Given the description of an element on the screen output the (x, y) to click on. 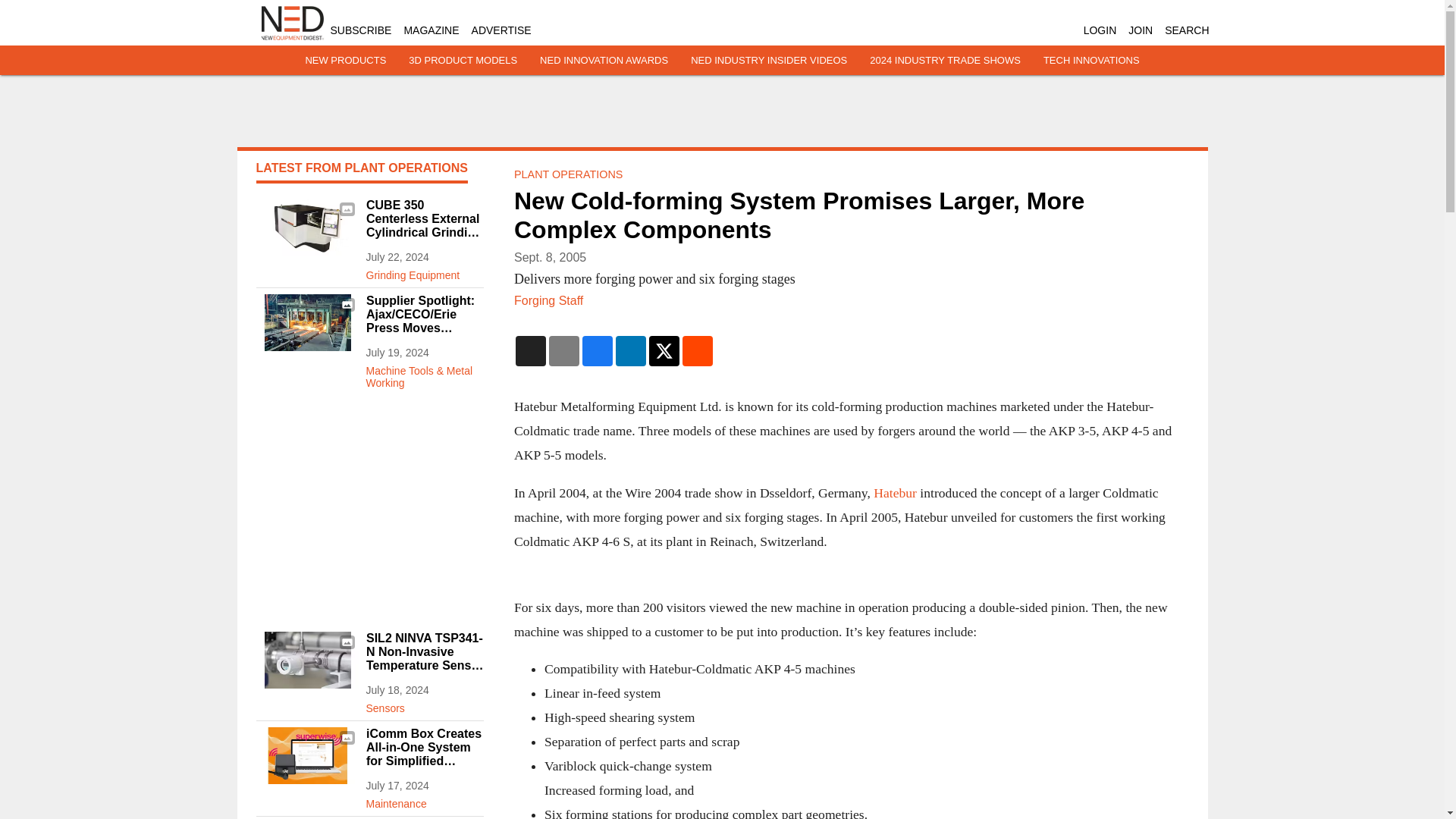
NED INNOVATION AWARDS (604, 60)
3D PRODUCT MODELS (462, 60)
LOGIN (1099, 30)
SUBSCRIBE (360, 30)
igus iComm Box (307, 755)
TECH INNOVATIONS (1091, 60)
JOIN (1140, 30)
2024 INDUSTRY TRADE SHOWS (944, 60)
MAGAZINE (430, 30)
SEARCH (1186, 30)
ADVERTISE (501, 30)
NEW PRODUCTS (344, 60)
NED INDUSTRY INSIDER VIDEOS (768, 60)
